Given the description of an element on the screen output the (x, y) to click on. 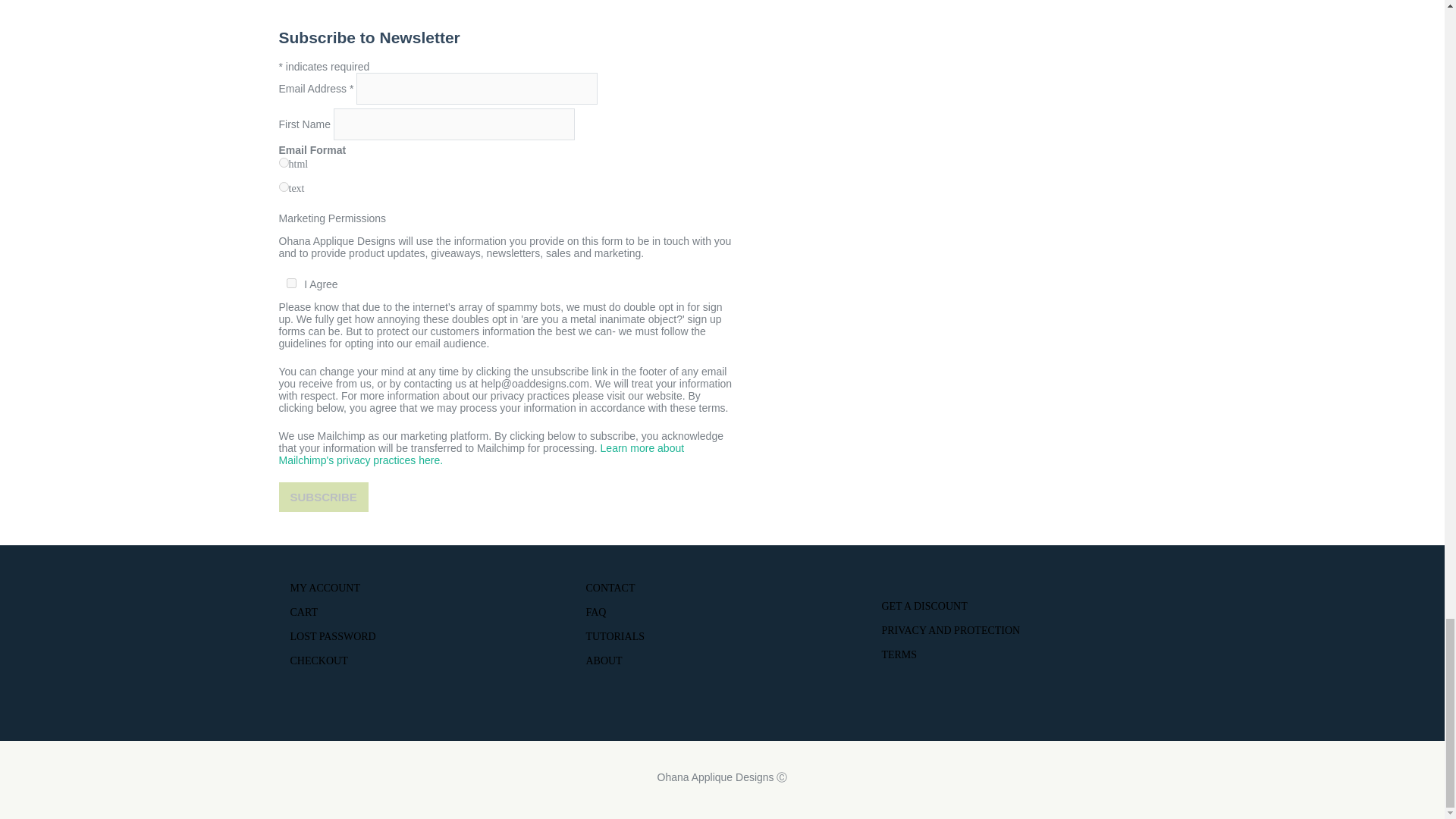
text (283, 186)
Subscribe (323, 496)
Y (291, 283)
html (283, 162)
